Given the description of an element on the screen output the (x, y) to click on. 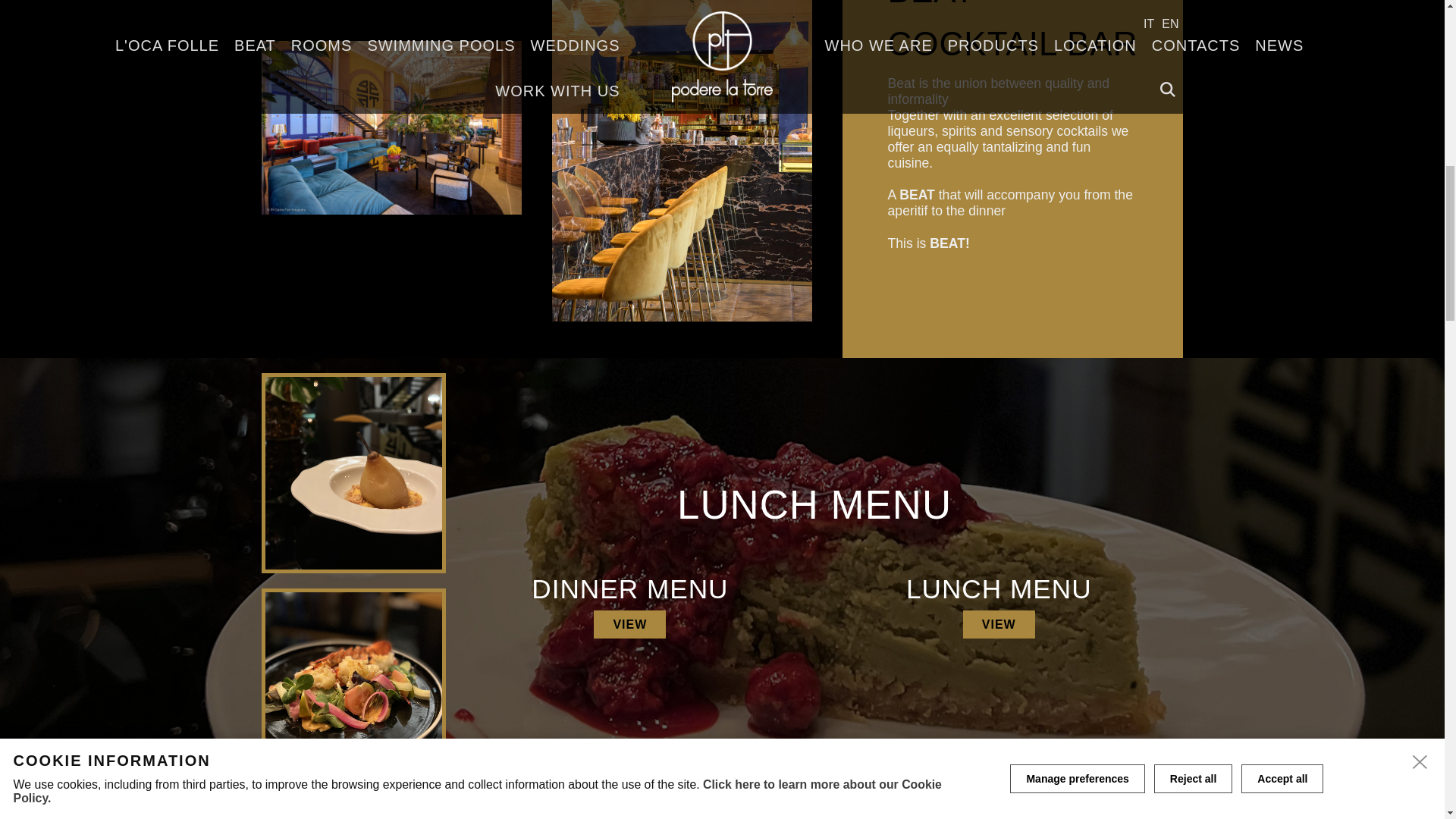
VIEW (629, 624)
VIEW (998, 624)
